Given the description of an element on the screen output the (x, y) to click on. 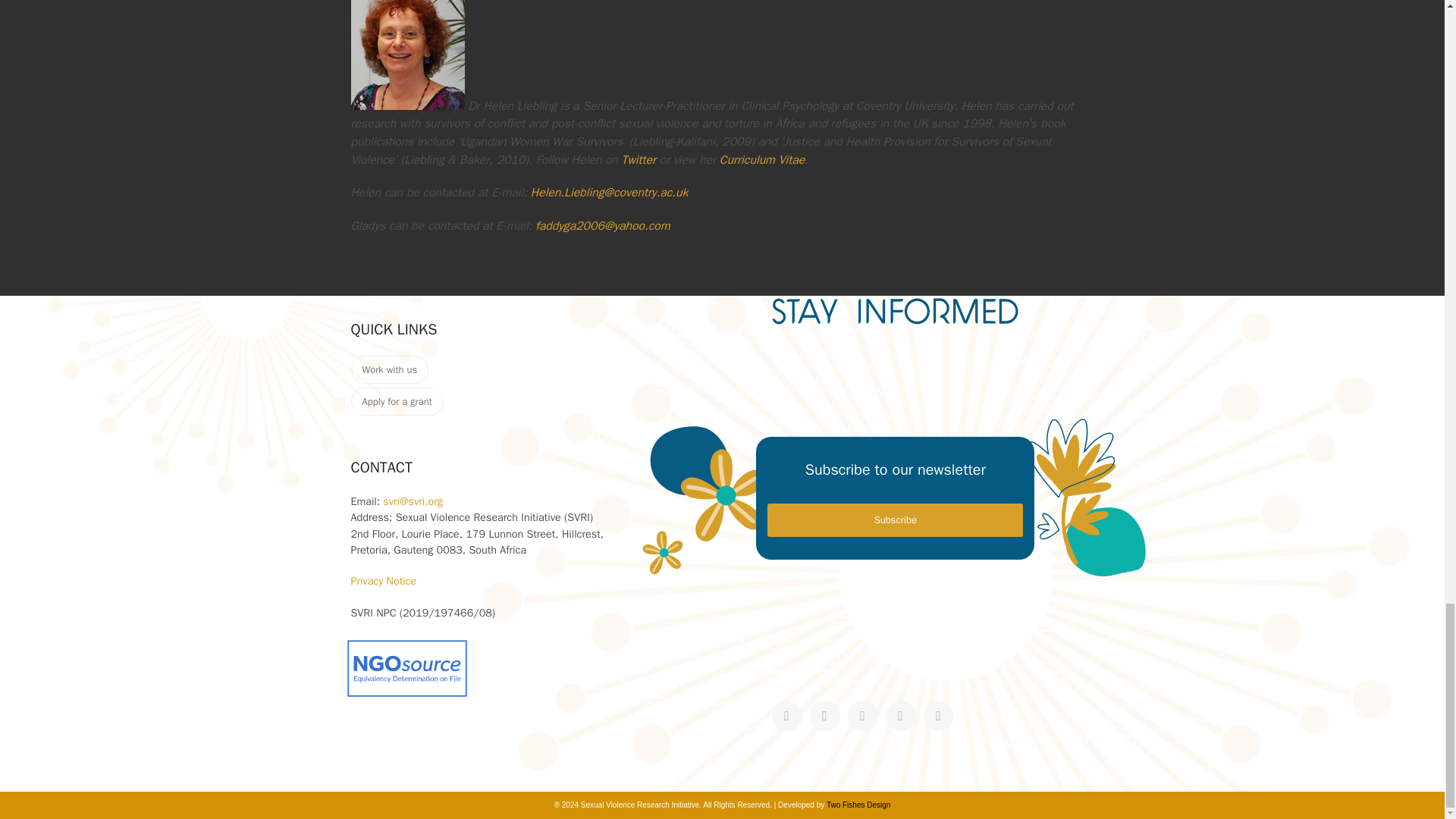
YouTube (938, 716)
Instagram (862, 716)
Twitter (786, 716)
Facebook (824, 716)
LinkedIn (900, 716)
